Given the description of an element on the screen output the (x, y) to click on. 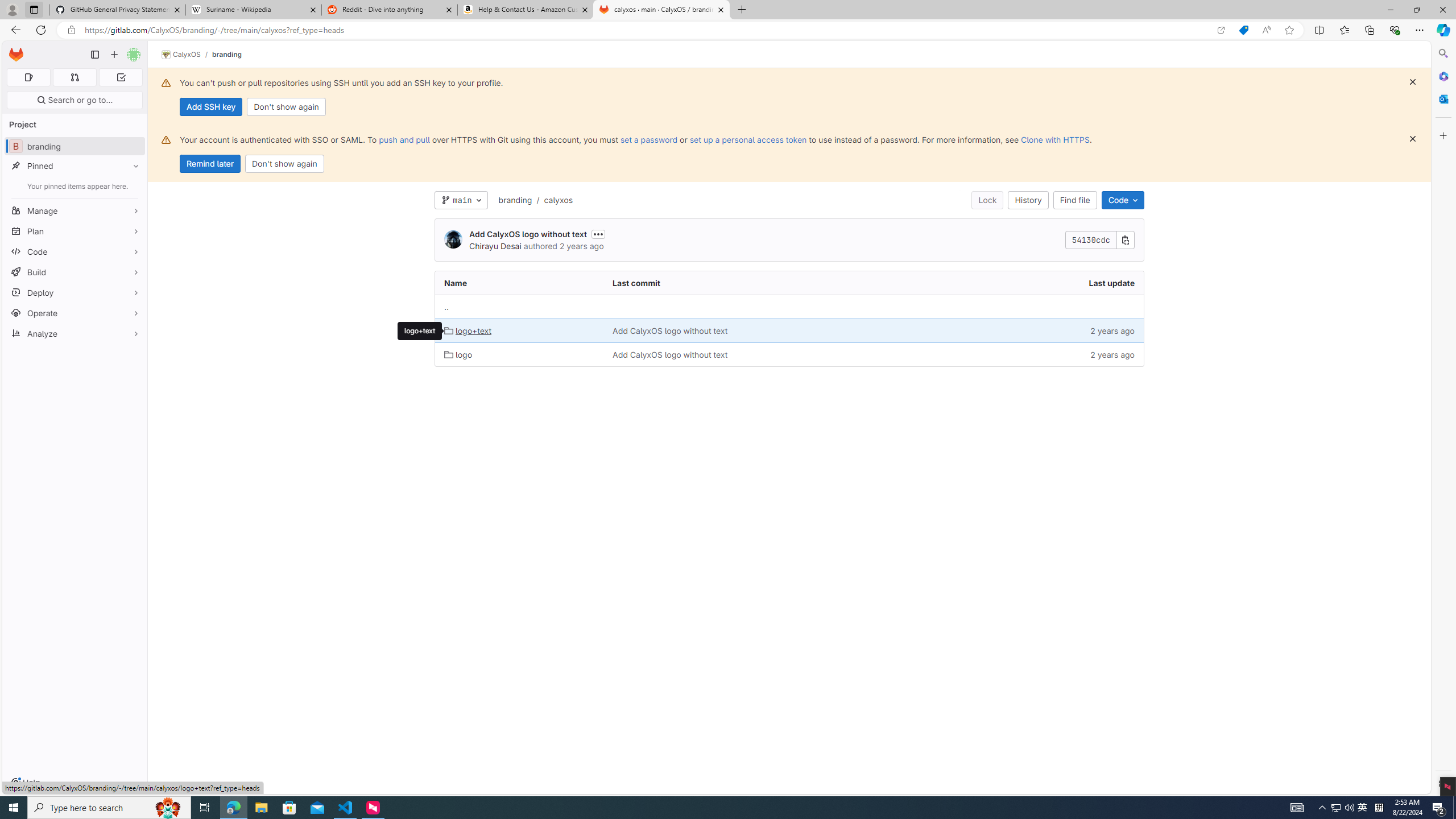
Add CalyxOS logo without text (670, 354)
Copy commit SHA (1125, 239)
Go to parent (446, 307)
main (460, 199)
logo+text (519, 330)
Open in app (1220, 29)
logo+text (419, 330)
Class: tree-item (789, 354)
Dismiss (1412, 138)
Pinned (74, 165)
Manage (74, 210)
set up a personal access token (747, 139)
Reddit - Dive into anything (390, 9)
